Given the description of an element on the screen output the (x, y) to click on. 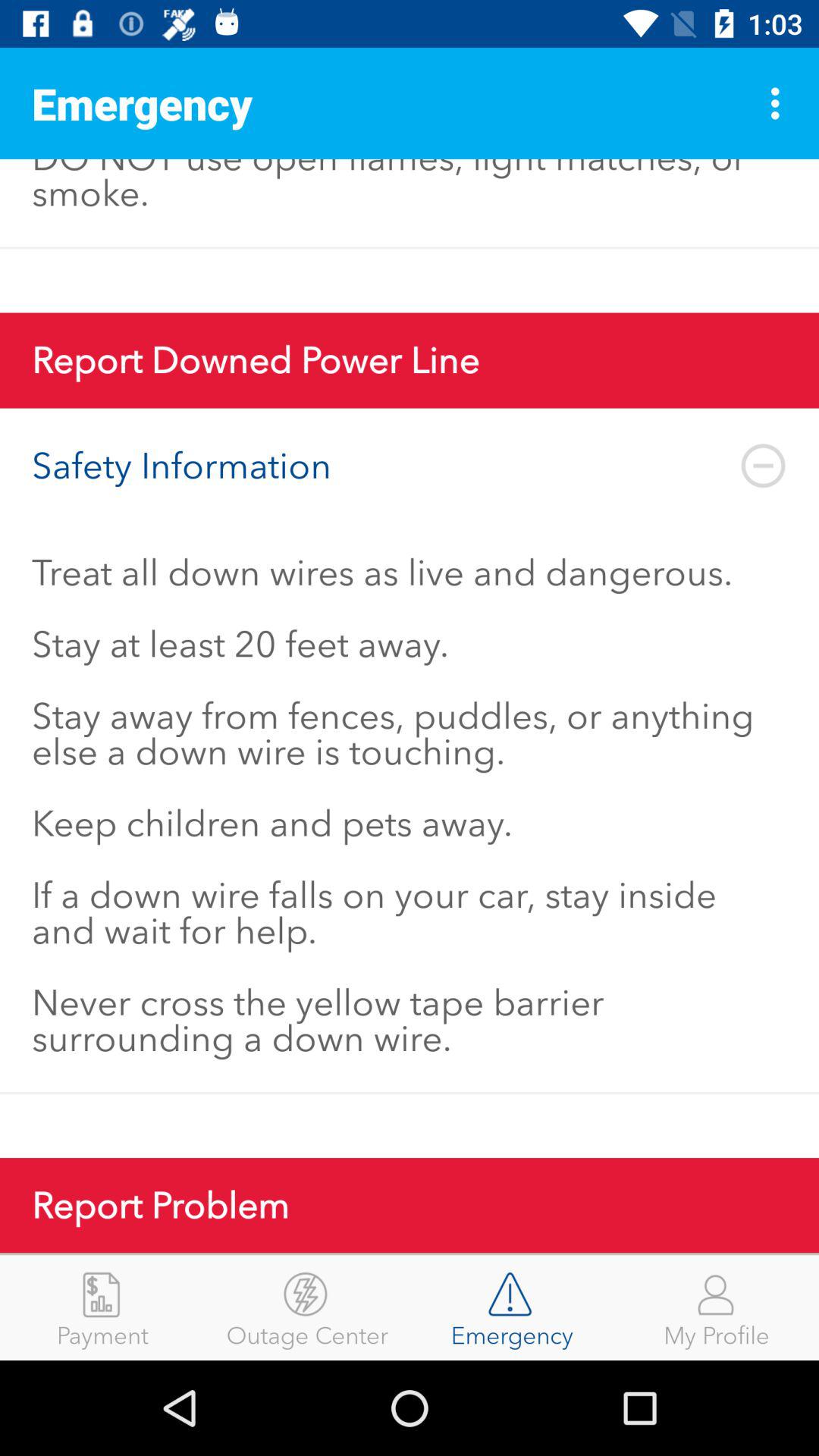
tap report problem icon (409, 1204)
